Given the description of an element on the screen output the (x, y) to click on. 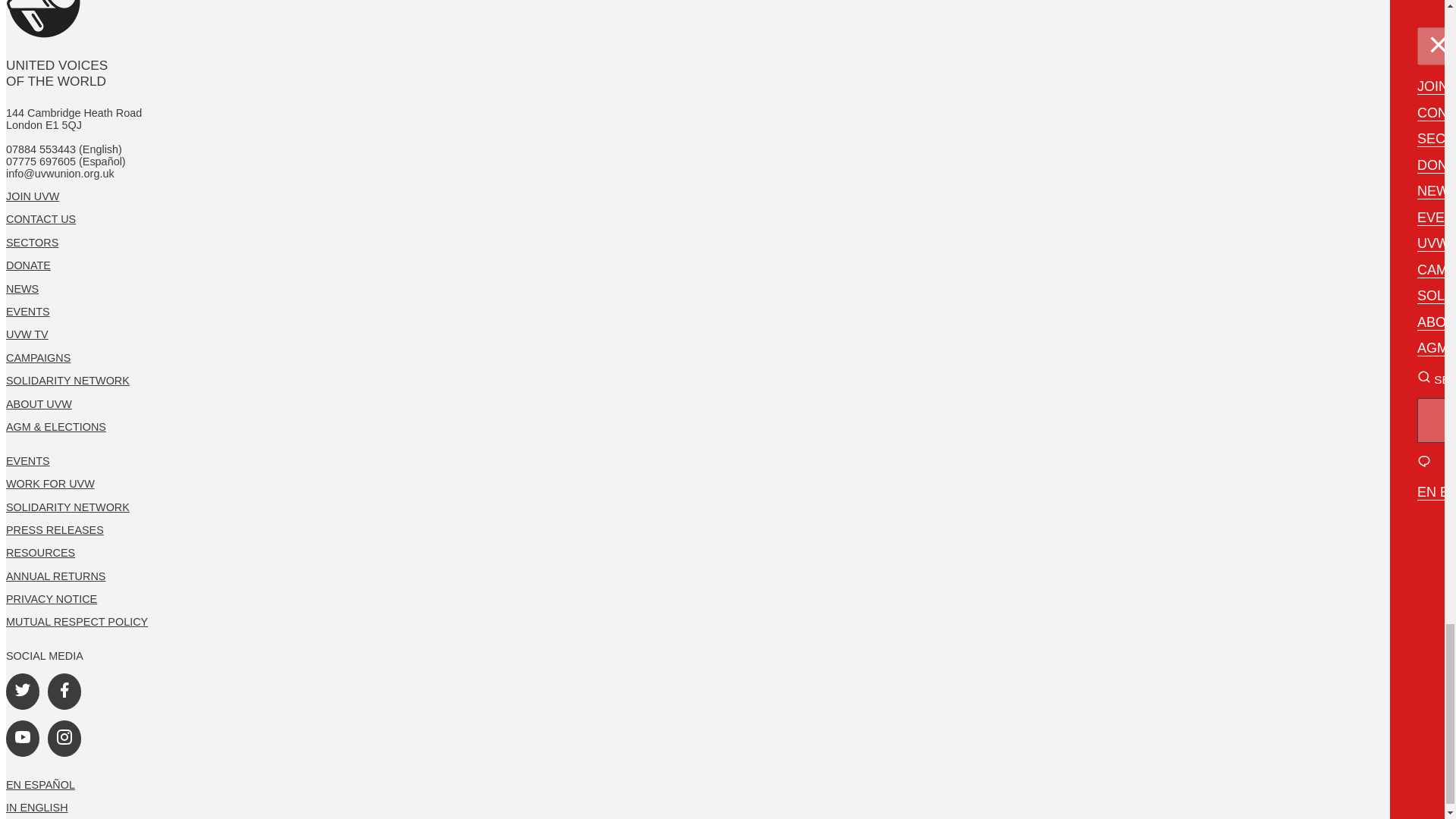
JOIN UVW (32, 196)
SECTORS (31, 242)
YouTube (22, 738)
Twitter (22, 691)
Facebook (64, 691)
CONTACT US (40, 218)
Instagram (64, 738)
